Given the description of an element on the screen output the (x, y) to click on. 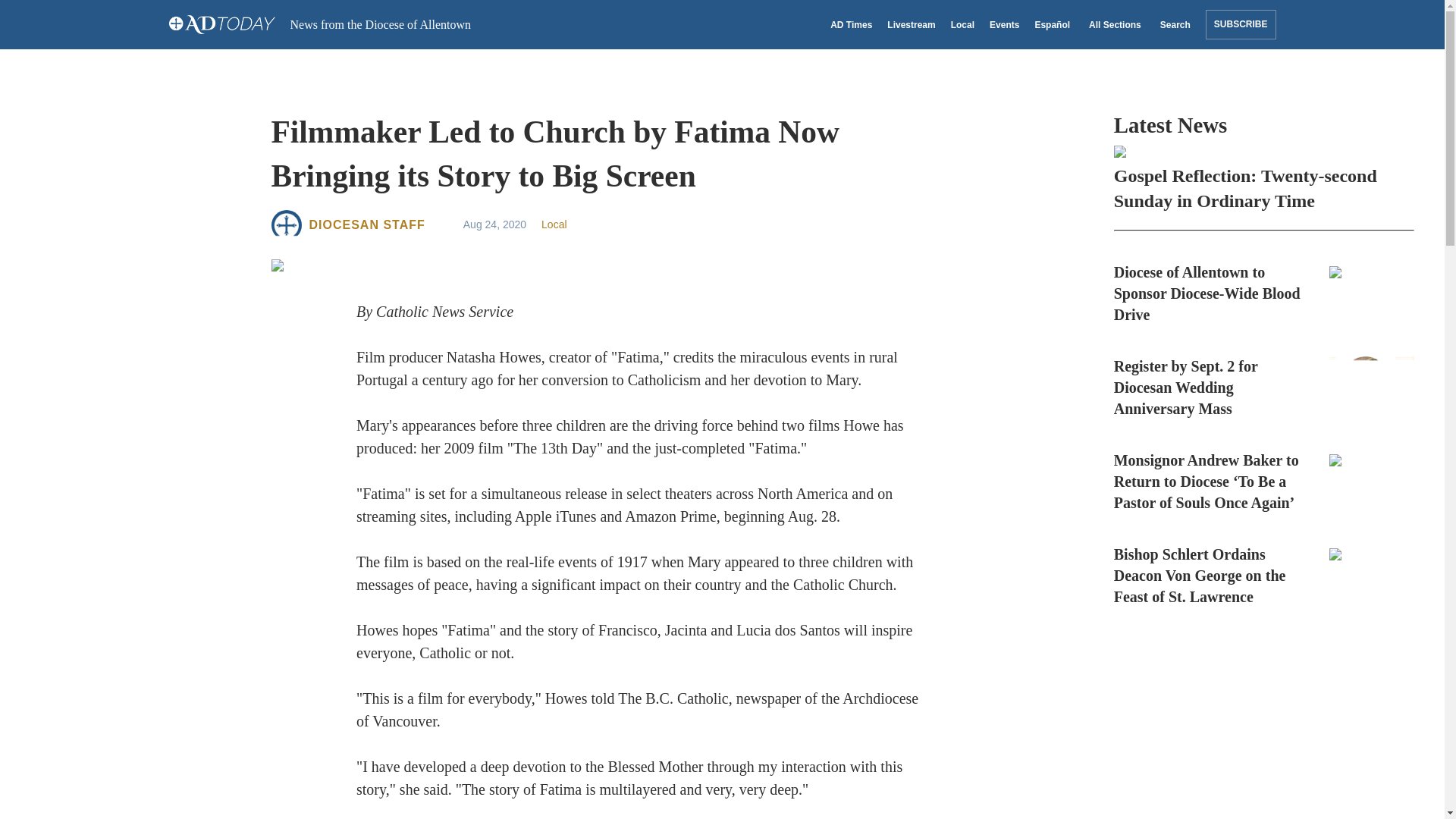
Diocese of Allentown to Sponsor Diocese-Wide Blood Drive (1263, 293)
Register by Sept. 2 for Diocesan Wedding Anniversary Mass (1263, 387)
Events (1003, 24)
All Sections (1112, 24)
SUBSCRIBE (1240, 24)
DIOCESAN STAFF (366, 225)
Search (1173, 24)
Gospel Reflection: Twenty-second Sunday in Ordinary Time (1263, 179)
Livestream (910, 24)
